Given the description of an element on the screen output the (x, y) to click on. 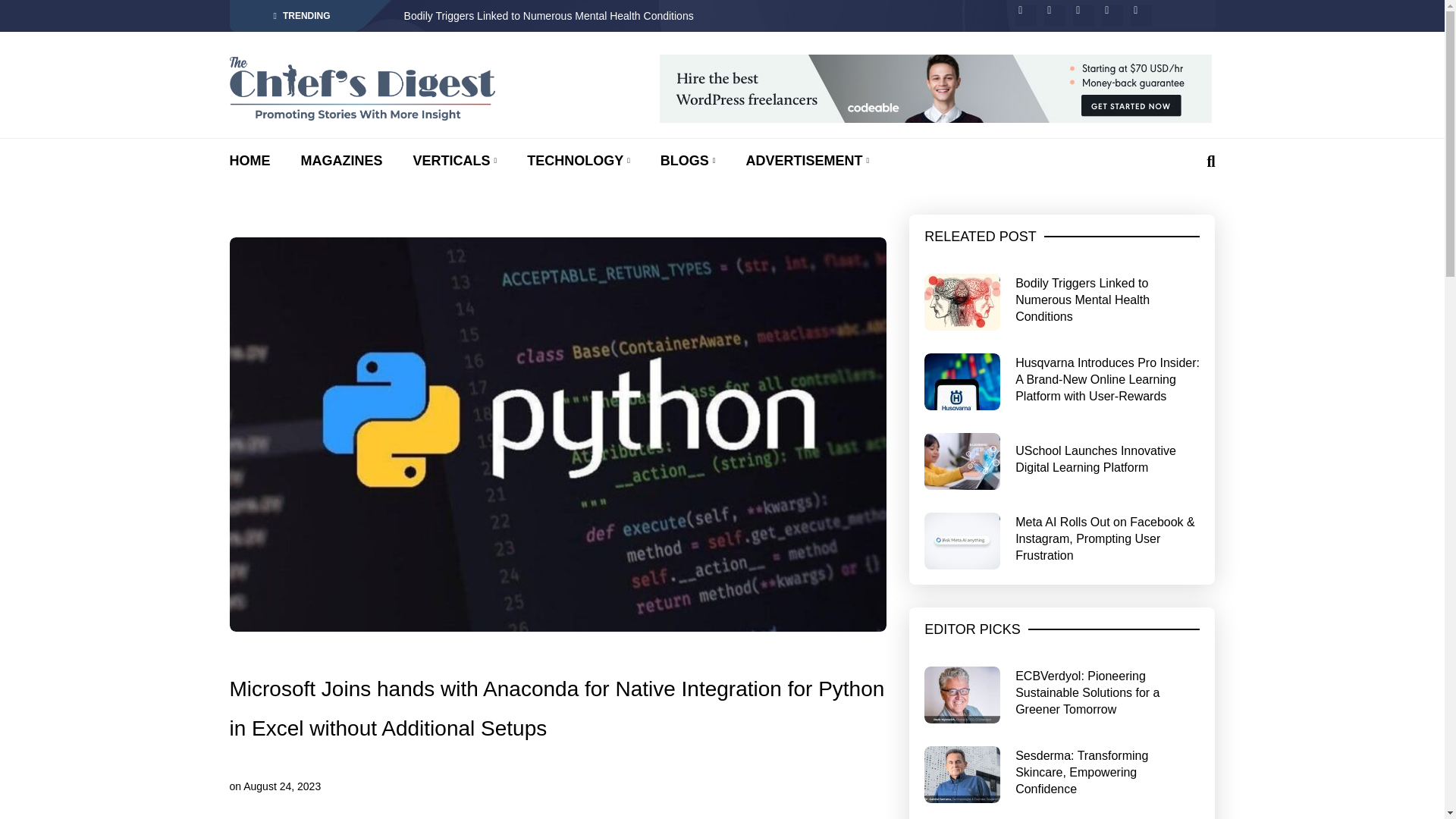
ADVERTISEMENT (807, 161)
MAGAZINES (340, 161)
VERTICALS (454, 161)
Bodily Triggers Linked to Numerous Mental Health Conditions (686, 15)
Bodily Triggers Linked to Numerous Mental Health Conditions (686, 15)
BLOGS (688, 161)
HOME (248, 161)
TECHNOLOGY (578, 161)
